Given the description of an element on the screen output the (x, y) to click on. 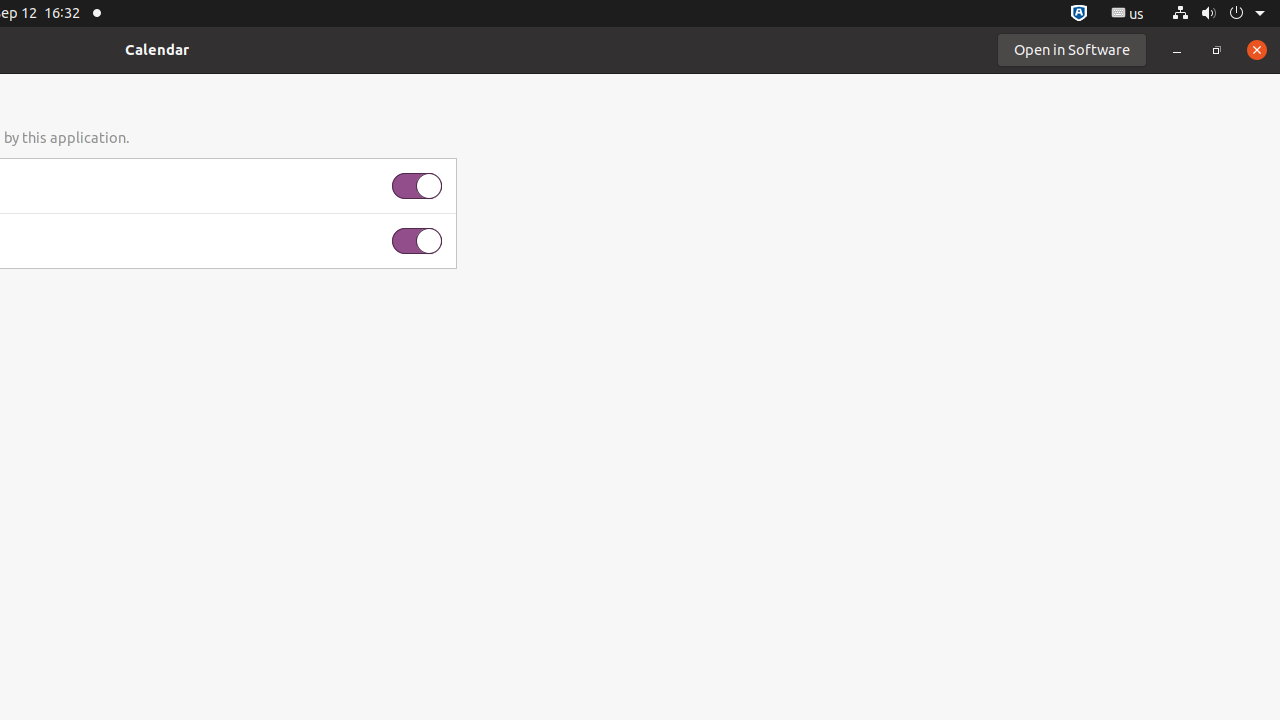
Calendar Element type: label (157, 49)
